Given the description of an element on the screen output the (x, y) to click on. 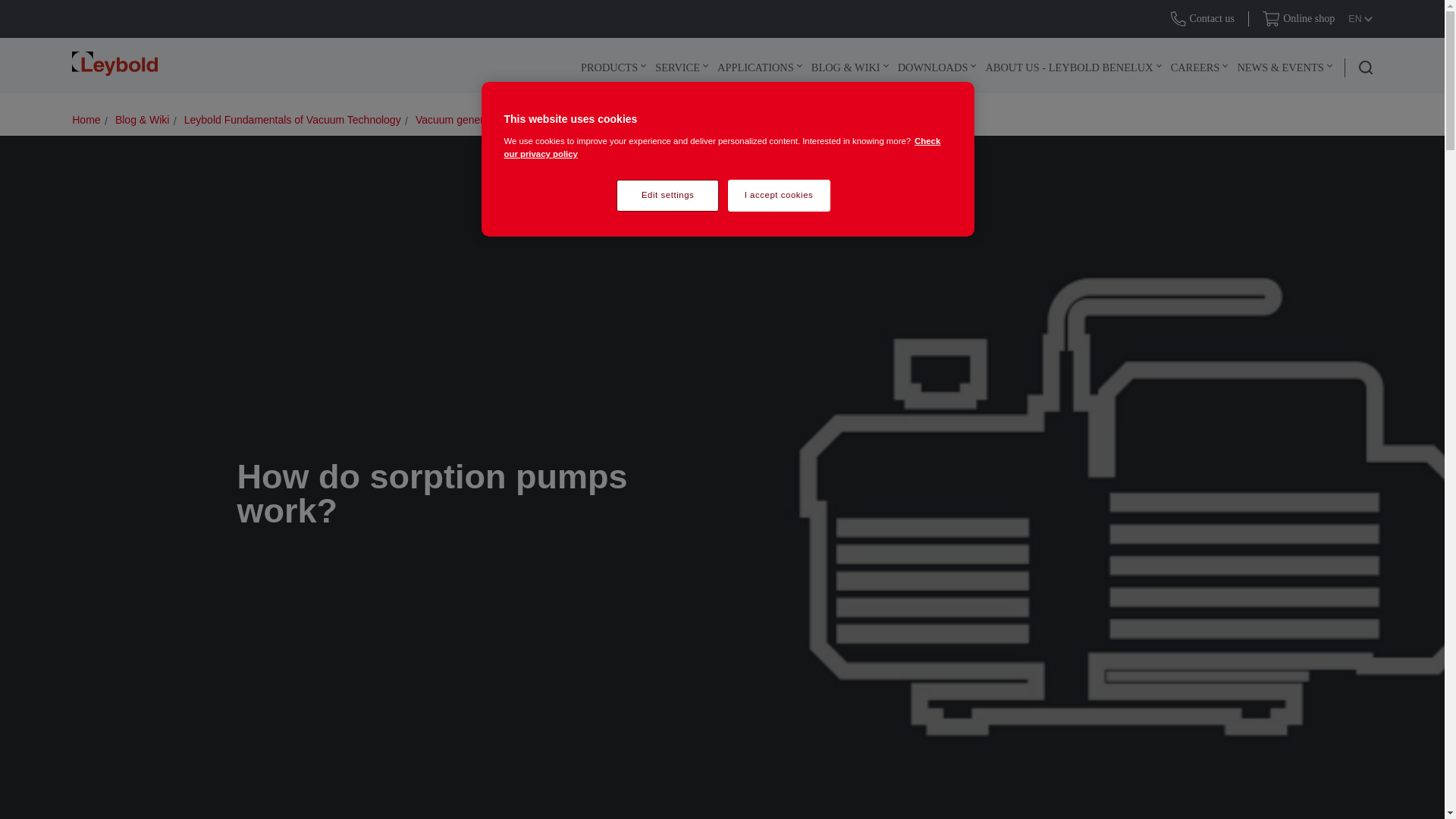
EN (1360, 19)
Online shop (1298, 18)
Contact us (1202, 18)
